Given the description of an element on the screen output the (x, y) to click on. 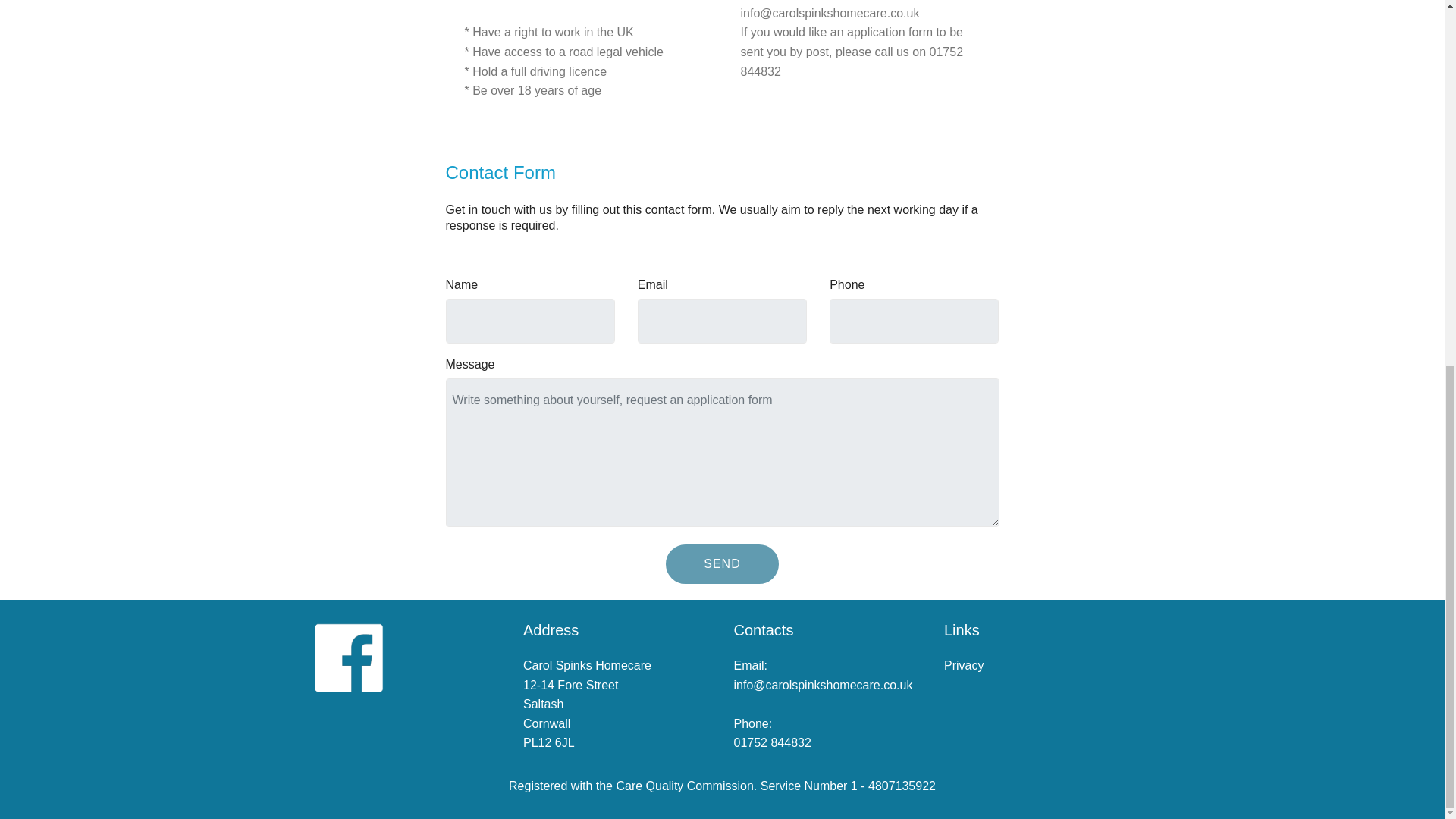
SEND (721, 563)
Privacy (963, 665)
